Given the description of an element on the screen output the (x, y) to click on. 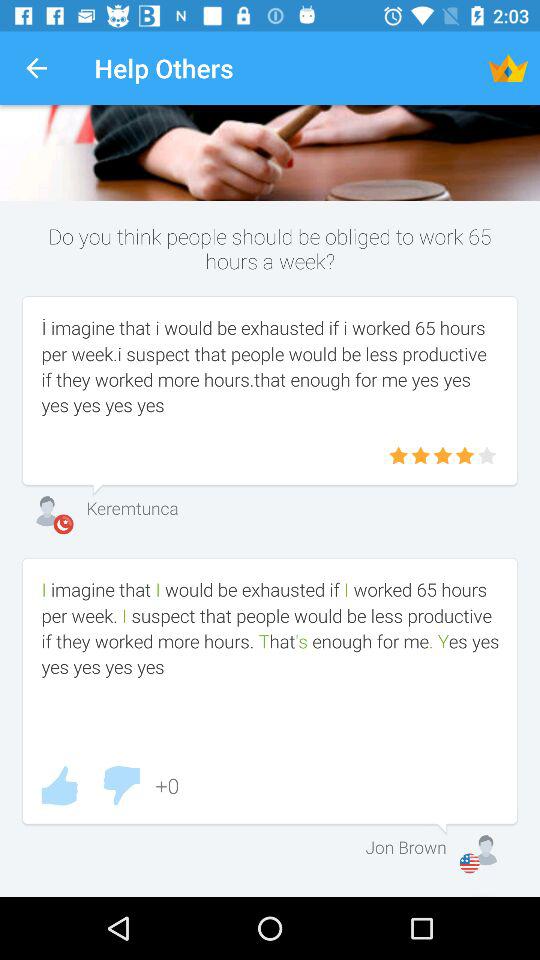
turn on item at the top right corner (508, 67)
